Given the description of an element on the screen output the (x, y) to click on. 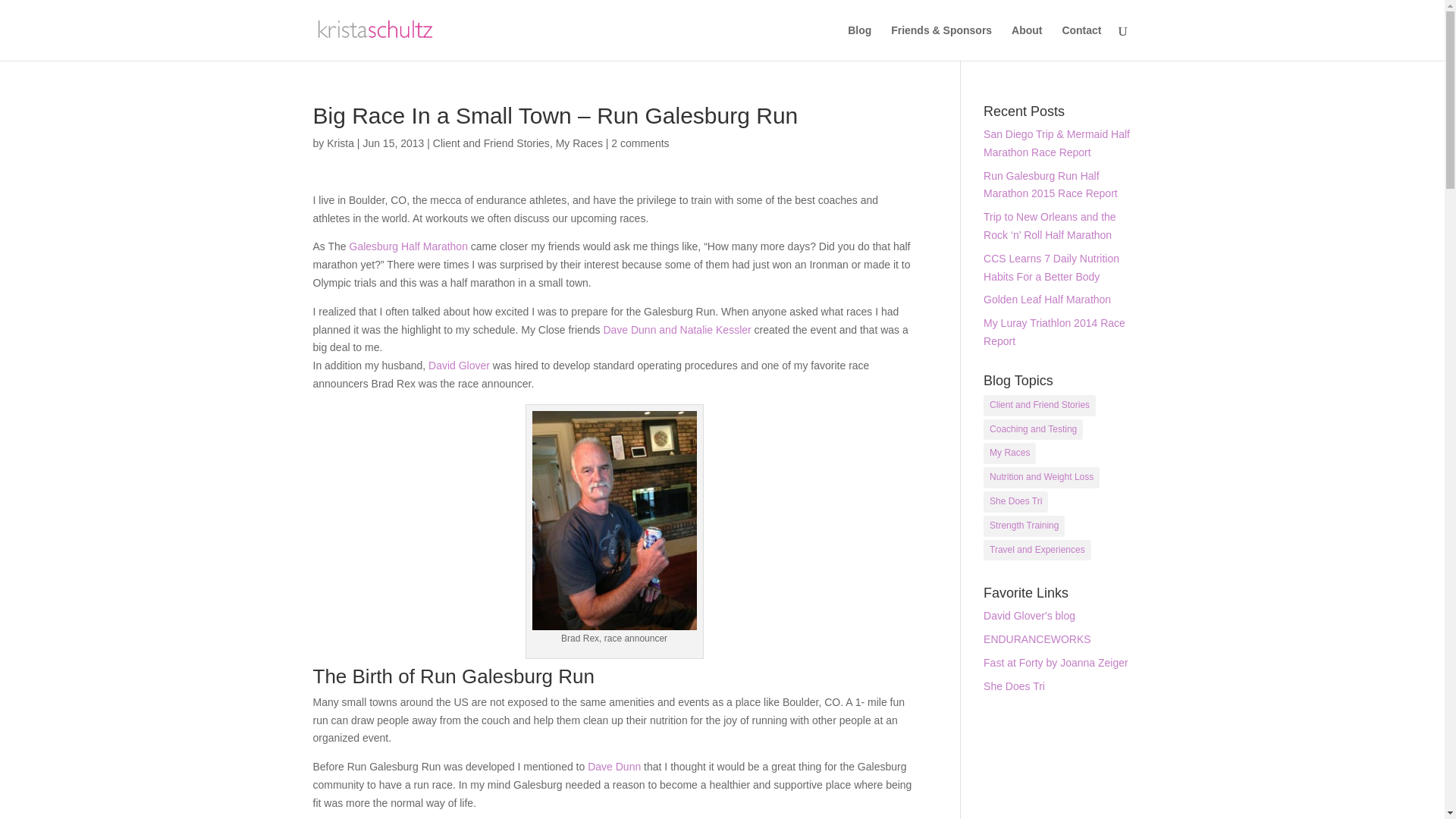
David Glover (458, 365)
Dave Dunn and Natalie Kessler (676, 329)
Dave Dunn (614, 766)
Galesburg Half Marathon (408, 246)
My Races (579, 143)
2 comments (639, 143)
Galesburg Half Marathon (408, 246)
Contact (1080, 42)
David Glover (458, 365)
Dave Dunn and Natalie Kessler (676, 329)
